Given the description of an element on the screen output the (x, y) to click on. 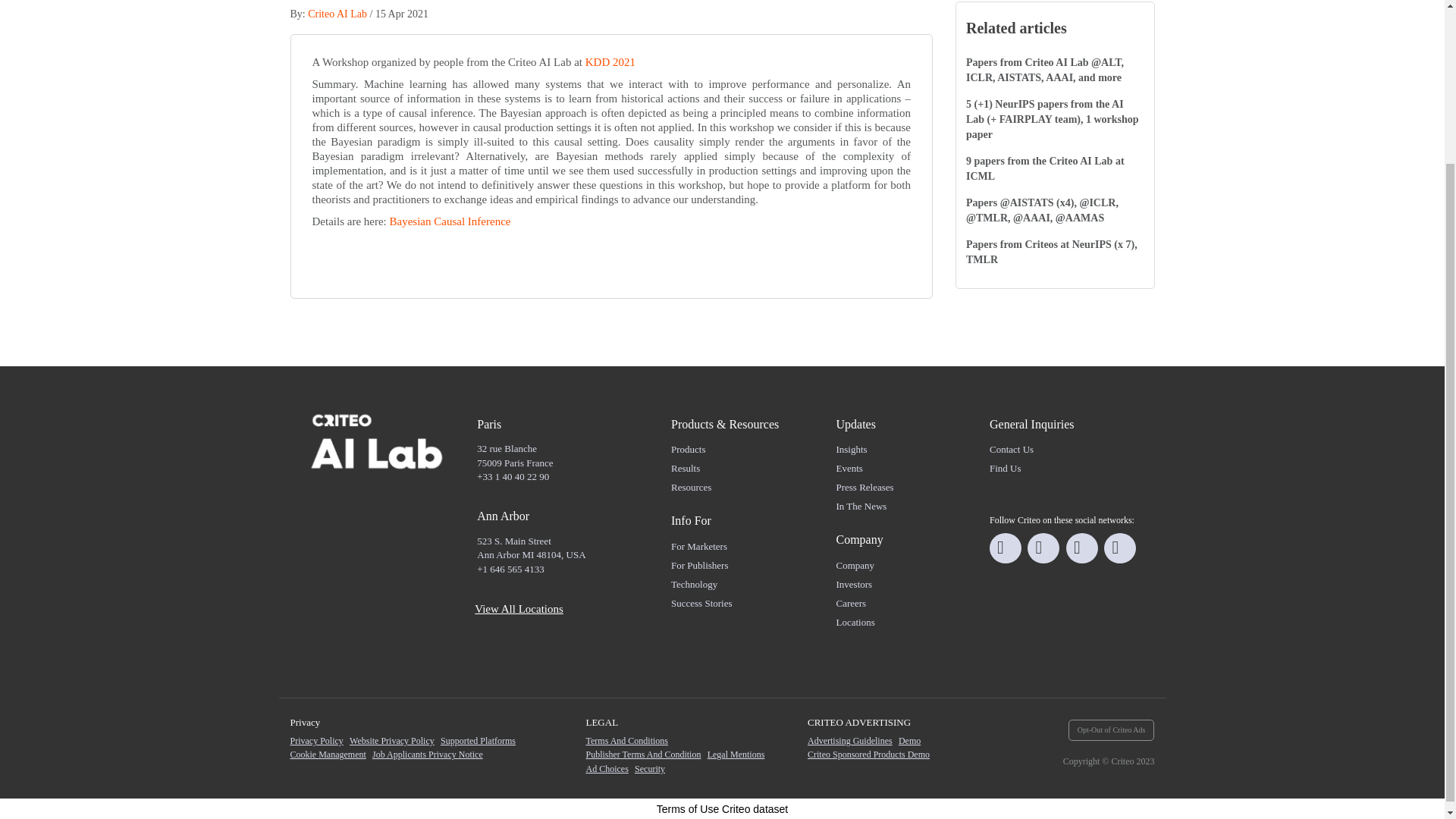
Success Stories (701, 603)
Bayesian Causal Inference (450, 221)
View All Locations (518, 608)
For Publishers (699, 564)
9 papers from the Criteo AI Lab at ICML (1045, 168)
Results (685, 468)
Insights (850, 449)
For Marketers (698, 546)
KDD 2021 (609, 61)
Criteo AI Lab (336, 13)
Technology (694, 583)
Resources (691, 487)
Products (688, 449)
